Given the description of an element on the screen output the (x, y) to click on. 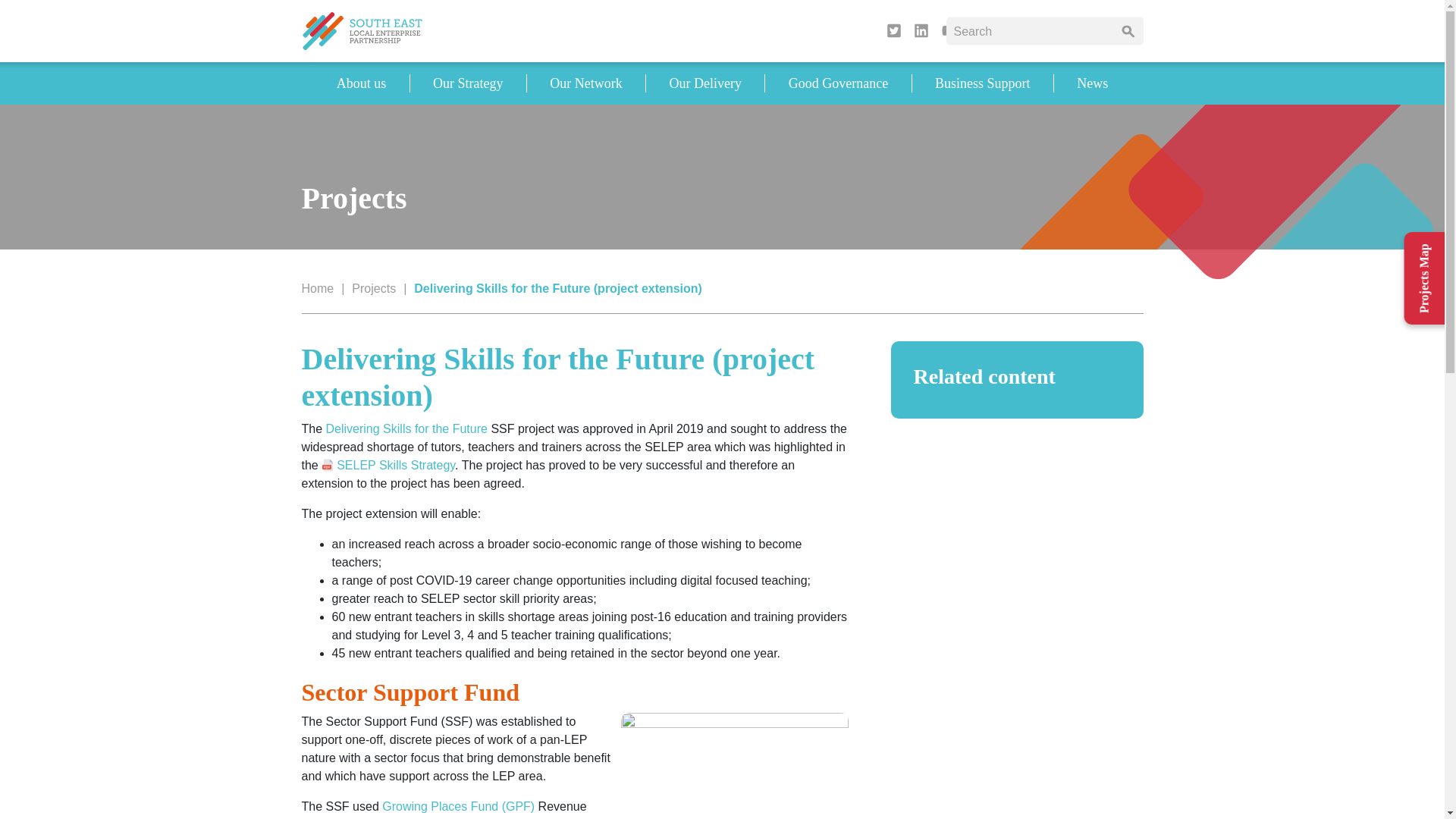
Return home (362, 30)
Projects (374, 287)
Our Delivery (705, 83)
Our Network (586, 83)
Twitter (893, 30)
Home (317, 287)
Search (1126, 30)
Our Strategy (467, 83)
Search for: (1029, 30)
Linked In (920, 30)
Good Governance (838, 83)
About us (361, 83)
Youtube (948, 30)
